Given the description of an element on the screen output the (x, y) to click on. 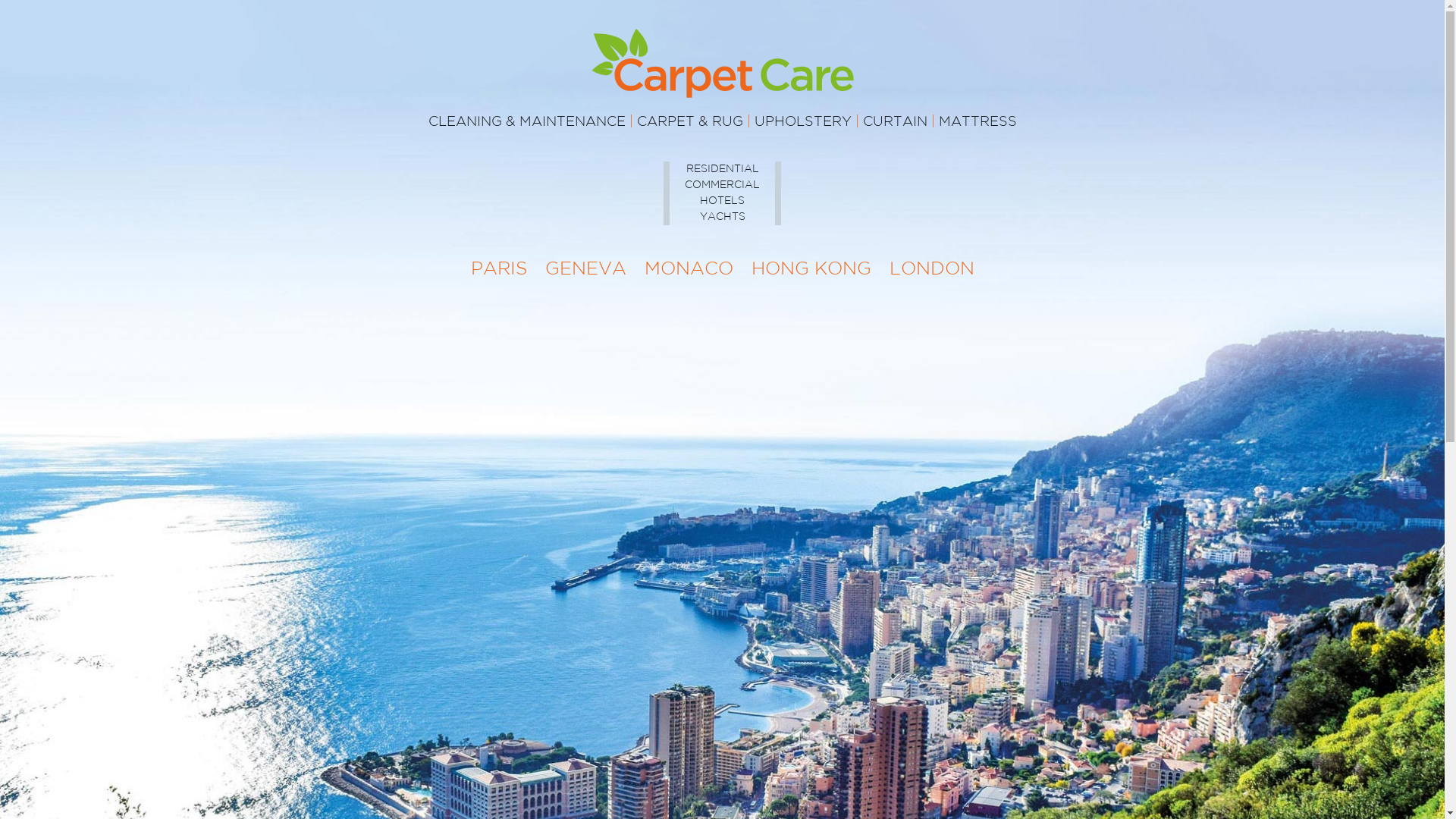
LONDON Element type: text (930, 269)
HONG KONG Element type: text (810, 269)
GENEVA Element type: text (584, 269)
MONACO Element type: text (688, 269)
PARIS Element type: text (498, 269)
